Given the description of an element on the screen output the (x, y) to click on. 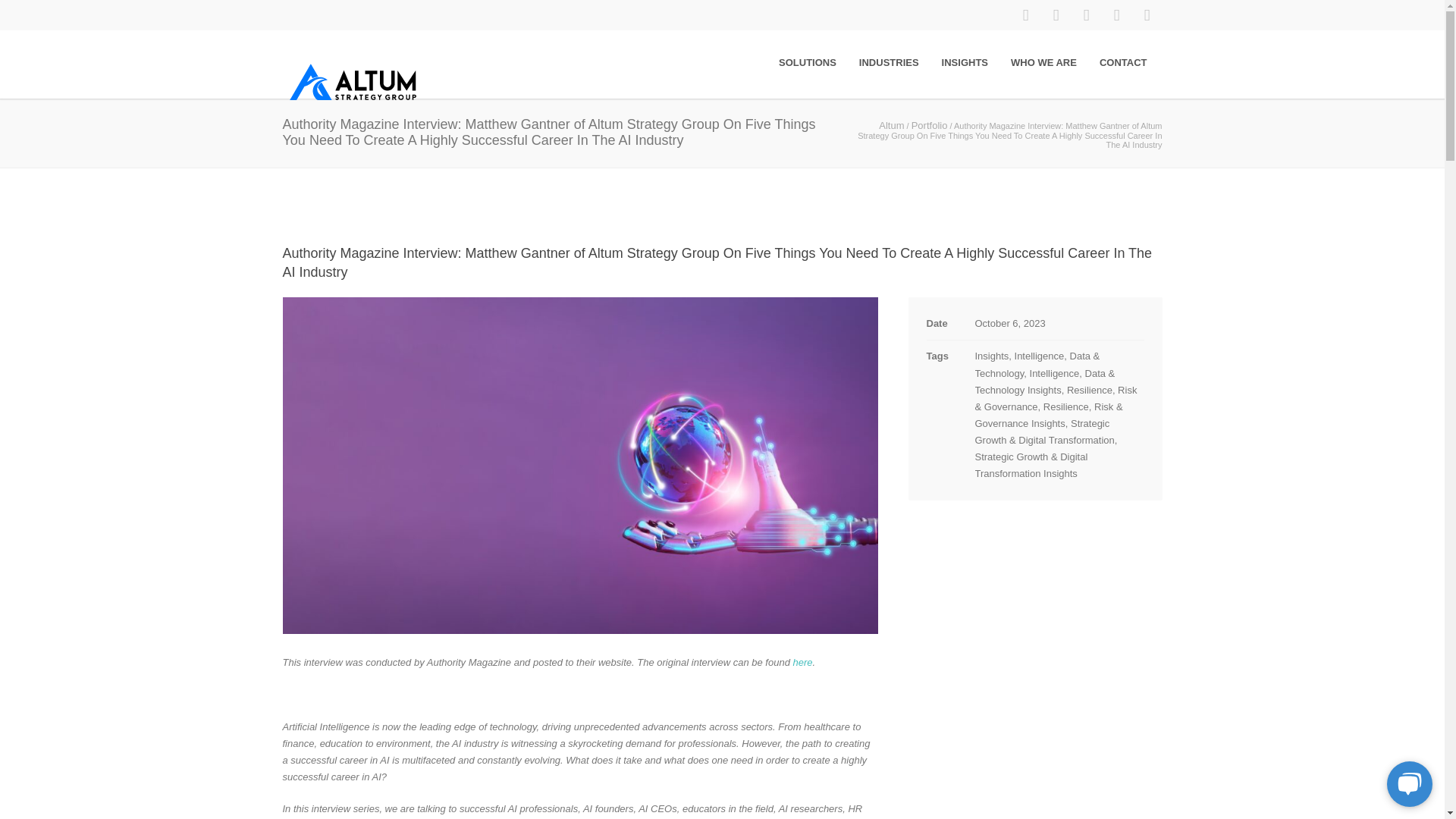
INDUSTRIES (888, 62)
LinkedIn (1055, 15)
CONTACT (1122, 62)
Facebook (1025, 15)
INSIGHTS (964, 62)
Twitter (1085, 15)
Treads (1146, 15)
YouTube (1115, 15)
WHO WE ARE (1042, 62)
SOLUTIONS (807, 62)
